Given the description of an element on the screen output the (x, y) to click on. 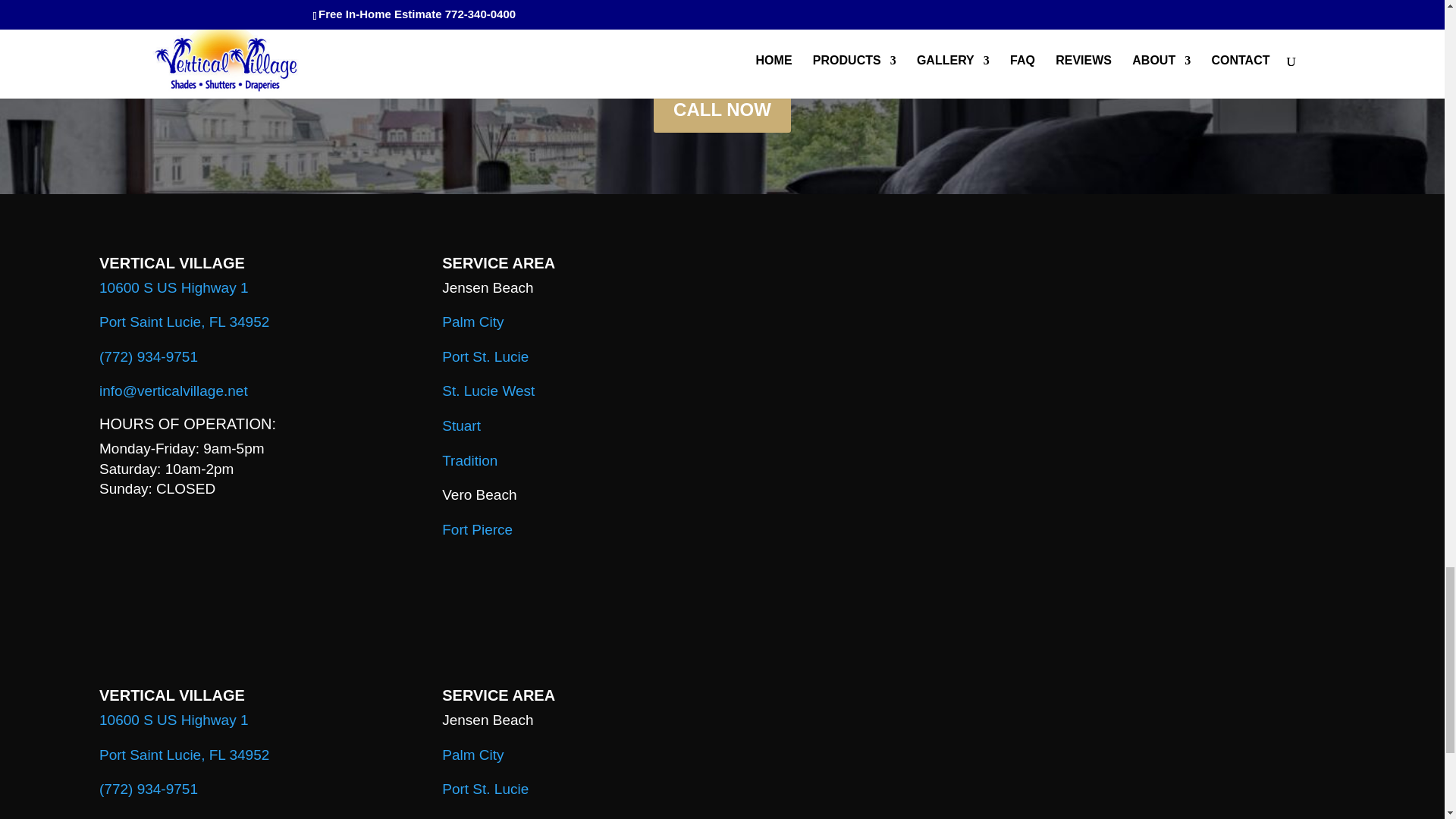
CALL NOW (721, 109)
Port St. Lucie (485, 356)
Port Saint Lucie, FL 34952 (184, 321)
St. Lucie West (488, 390)
Tradition (469, 460)
10600 S US Highway 1 (173, 287)
Fort Pierce (477, 529)
Palm City (472, 321)
Stuart (461, 425)
10600 S US Highway 1 (173, 719)
